Given the description of an element on the screen output the (x, y) to click on. 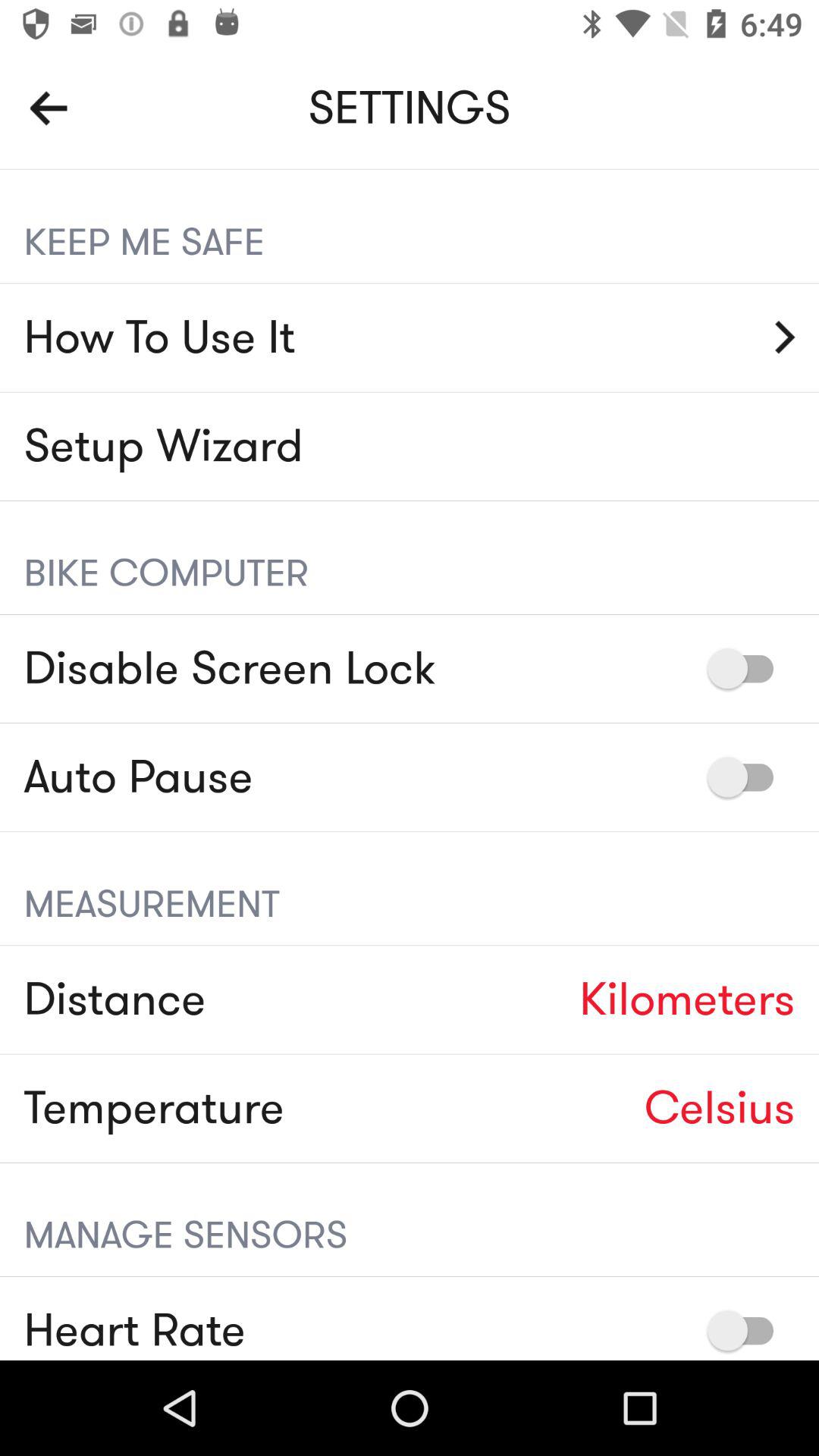
auto pause toggle off (747, 777)
